Given the description of an element on the screen output the (x, y) to click on. 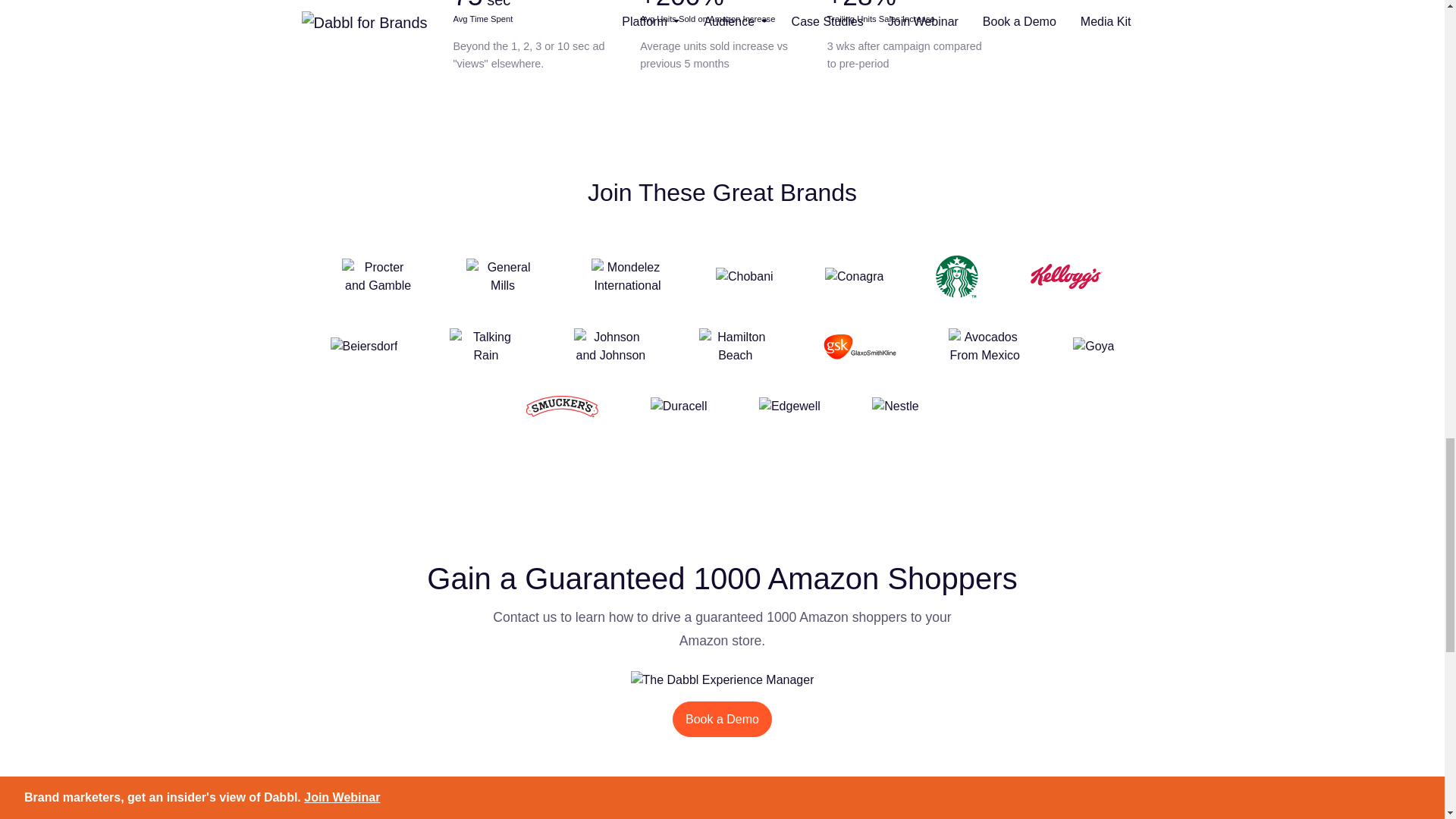
Book a Demo (721, 719)
starbucks (957, 276)
smuckers (561, 405)
